Given the description of an element on the screen output the (x, y) to click on. 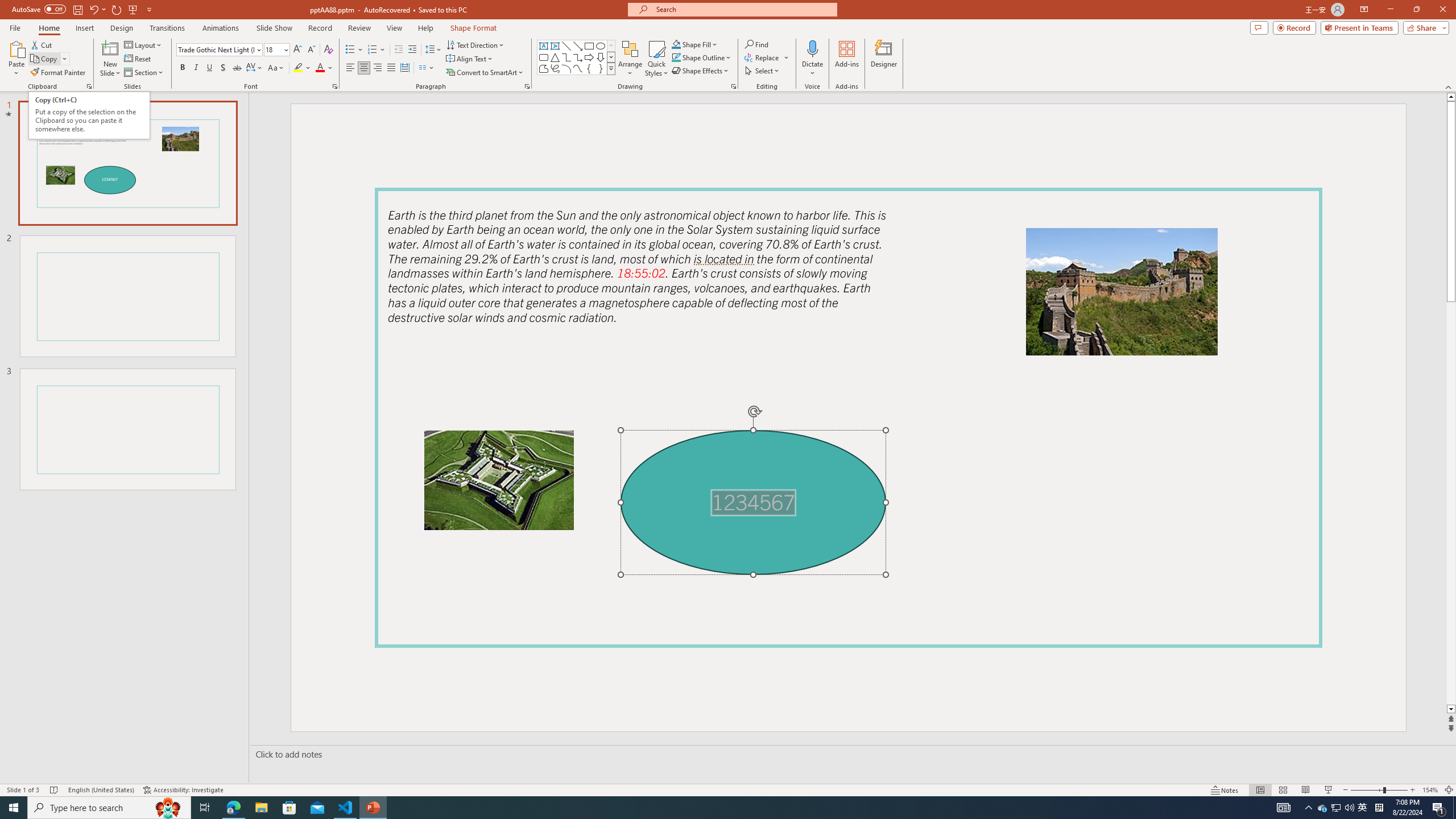
Zoom 154% (1430, 790)
